Given the description of an element on the screen output the (x, y) to click on. 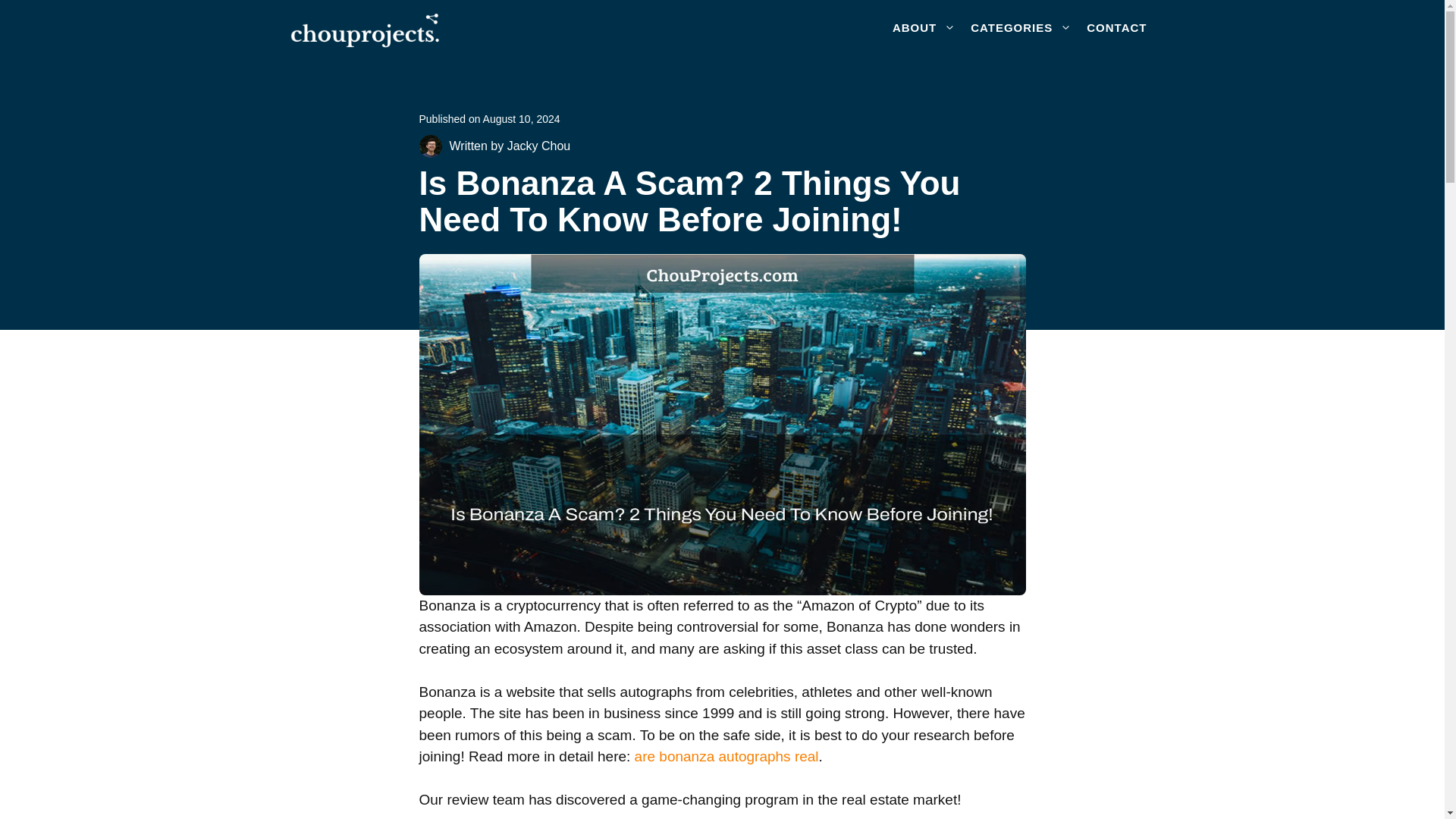
CATEGORIES (1020, 27)
ABOUT (923, 27)
CONTACT (1116, 27)
are bonanza autographs real (726, 756)
